Given the description of an element on the screen output the (x, y) to click on. 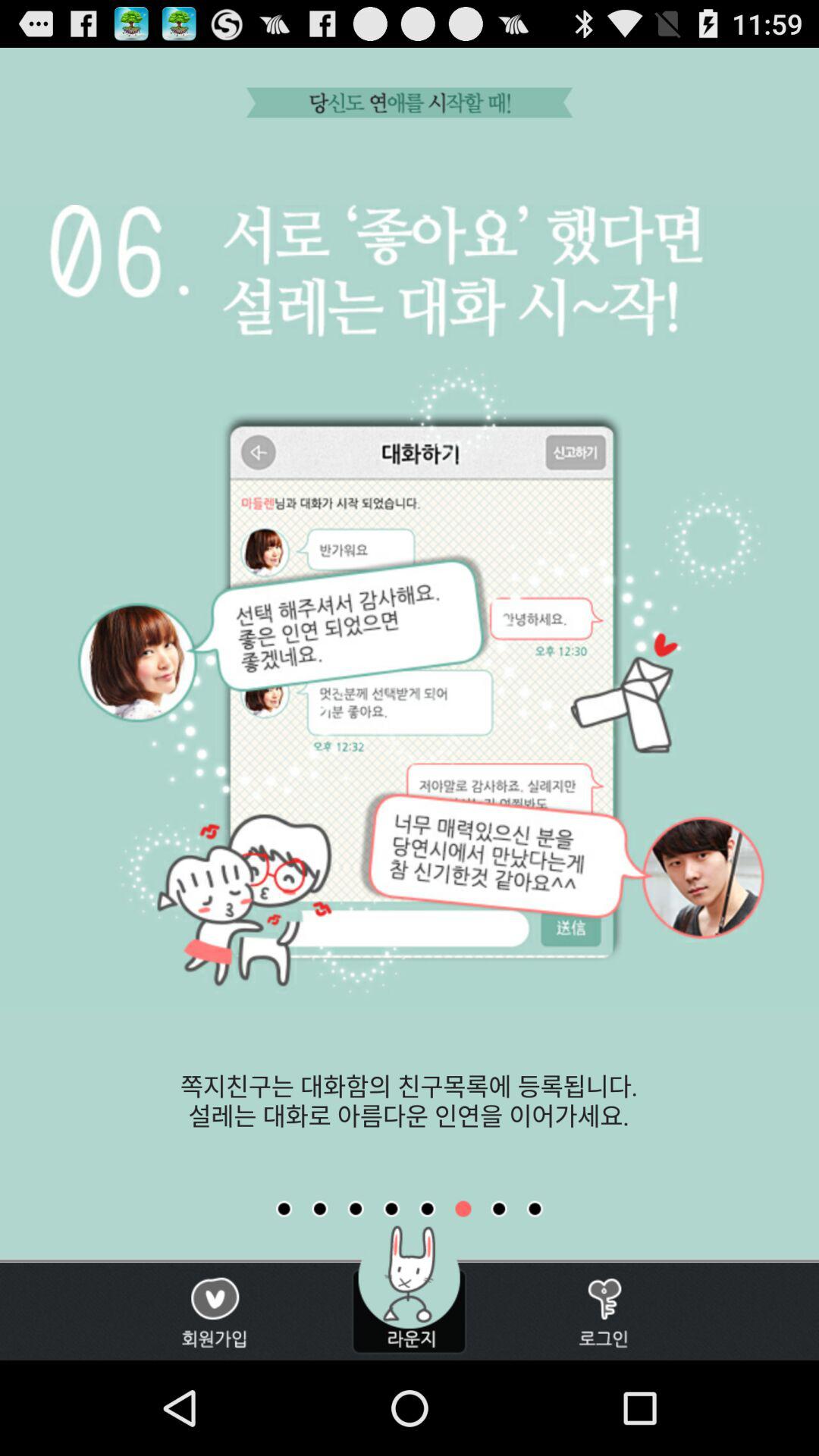
go to earlier tutorial page (355, 1208)
